Given the description of an element on the screen output the (x, y) to click on. 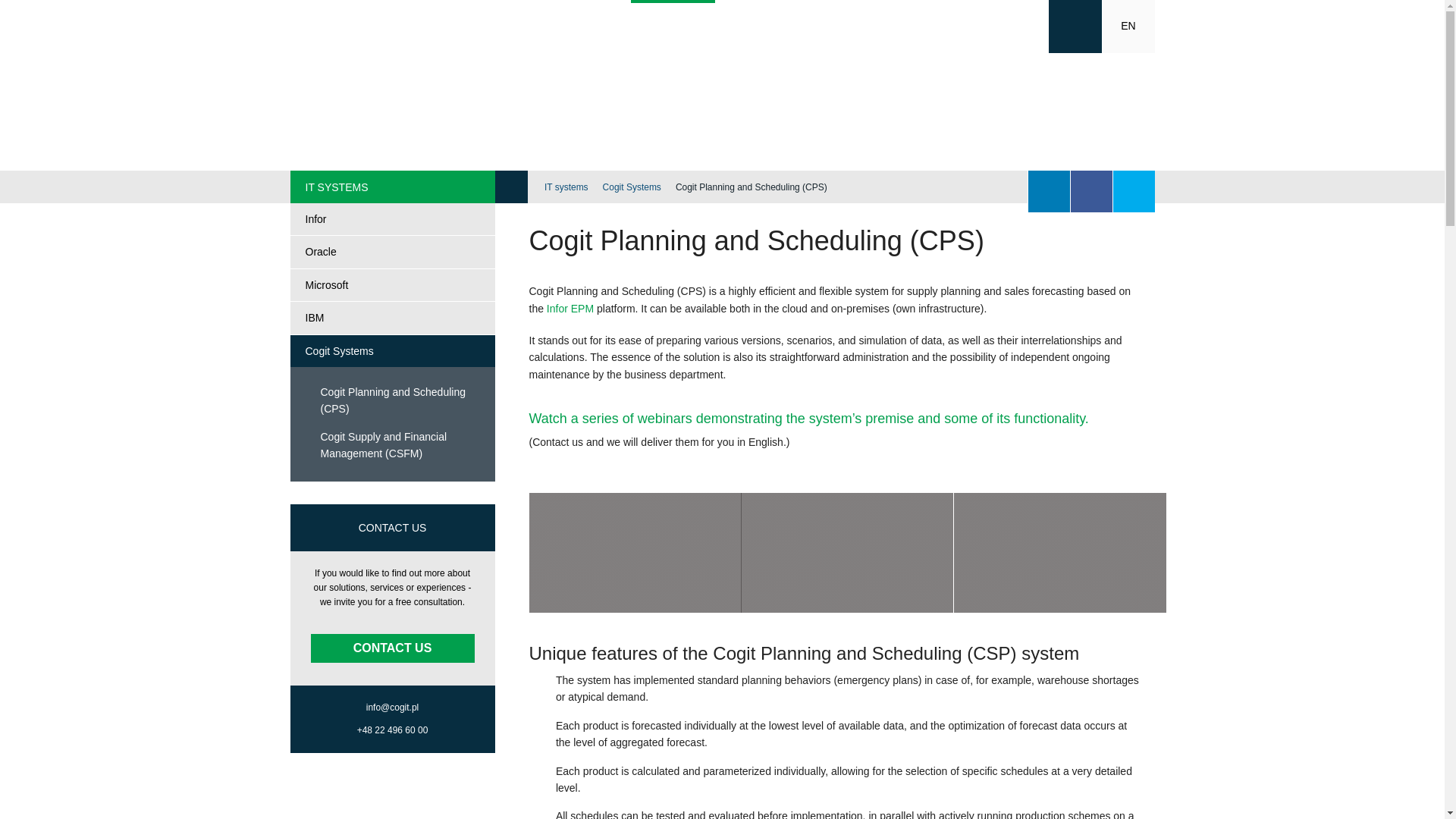
SOLUTIONS (512, 26)
Obserwuj nas na LinkedIn (1048, 191)
Obserwuj nas na Twitterze (1133, 191)
Obserwuj nas na Facebooku (1091, 191)
